Given the description of an element on the screen output the (x, y) to click on. 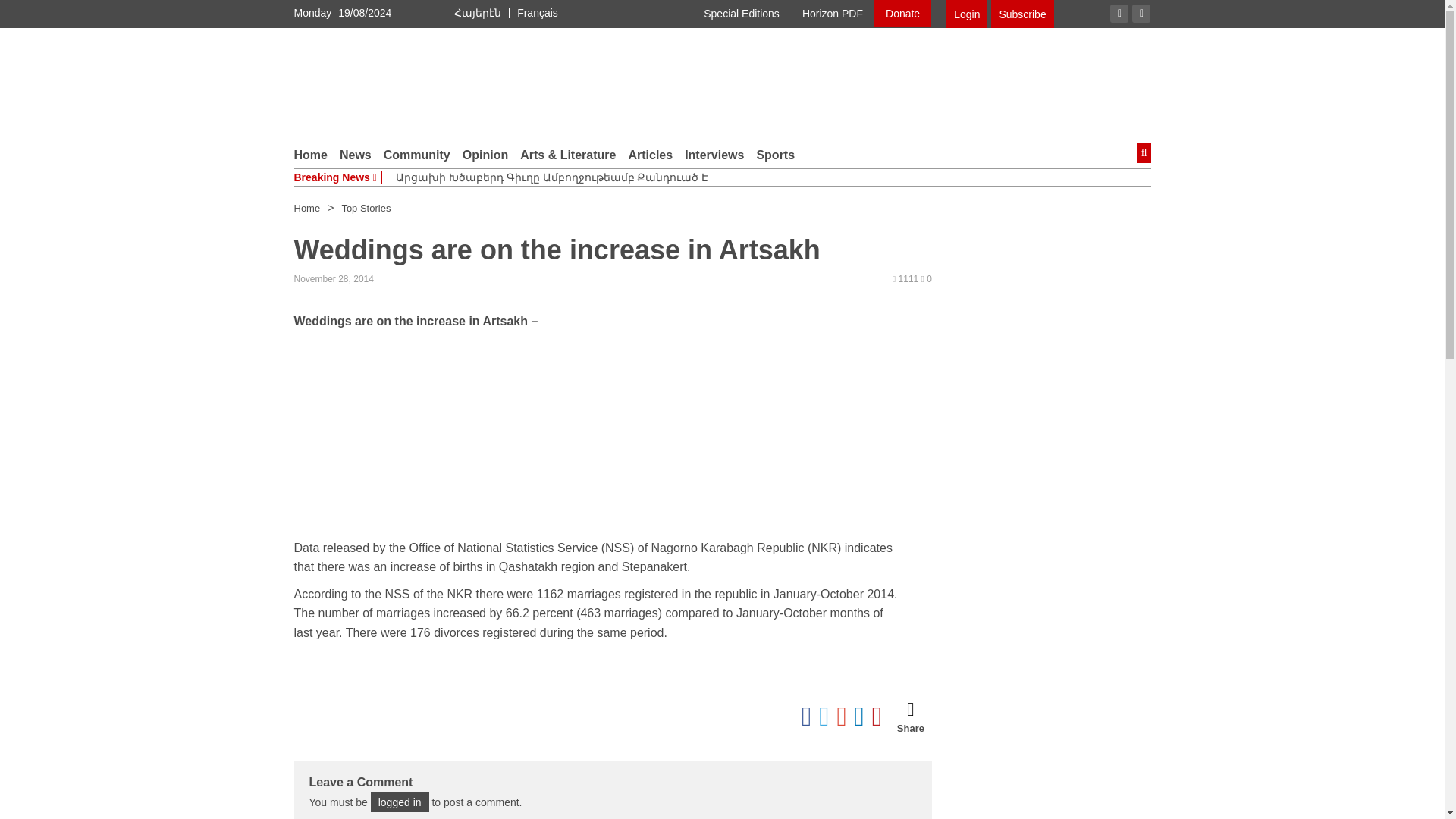
News (355, 155)
Home (310, 155)
Opinion (485, 155)
Community (416, 155)
Horizon PDF (832, 13)
Sports (774, 155)
Interviews (714, 155)
Login (966, 13)
Home (307, 207)
Subscribe (1021, 13)
